Given the description of an element on the screen output the (x, y) to click on. 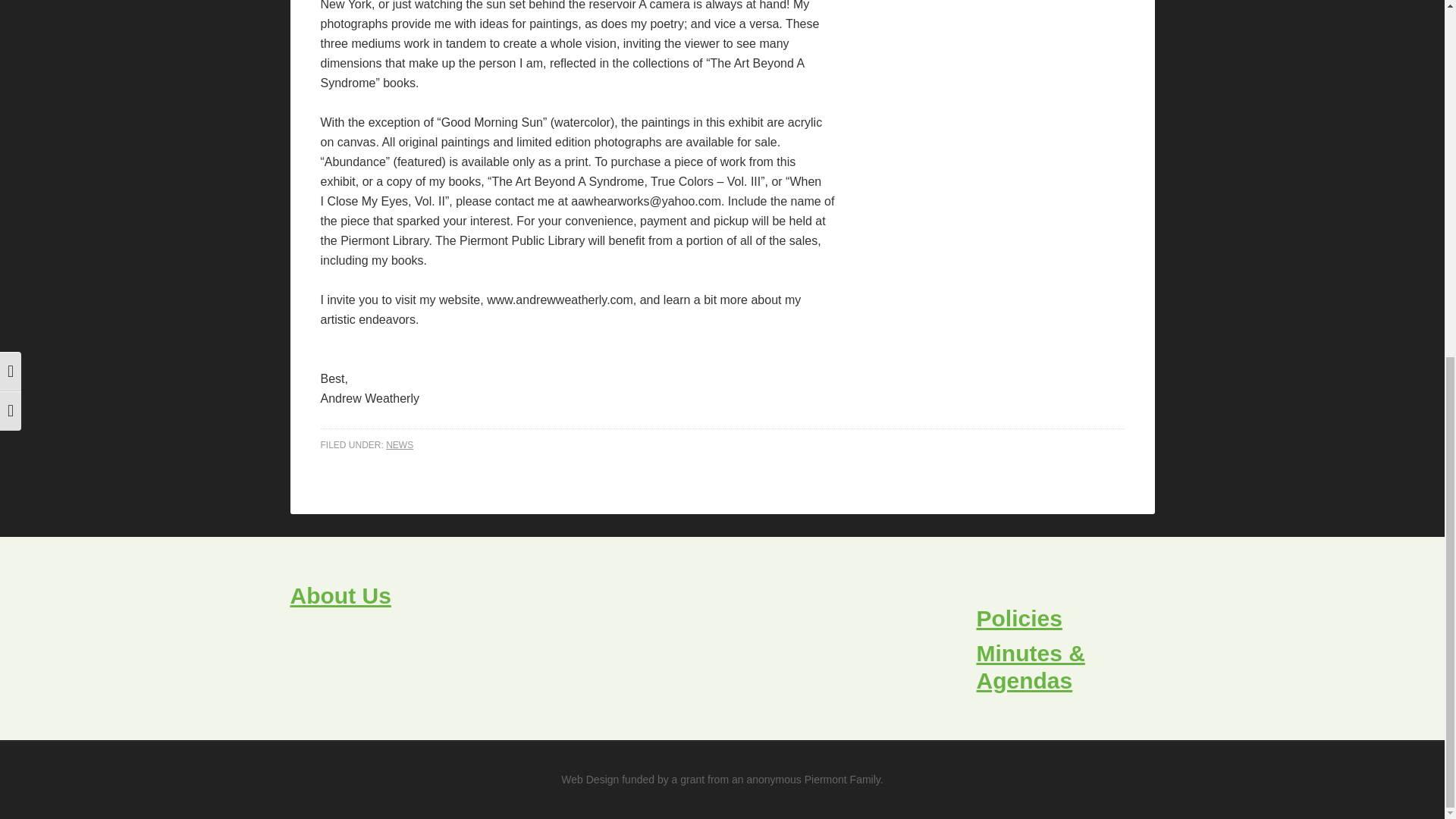
NEWS (399, 444)
Policies (1019, 618)
About Us (339, 595)
